Given the description of an element on the screen output the (x, y) to click on. 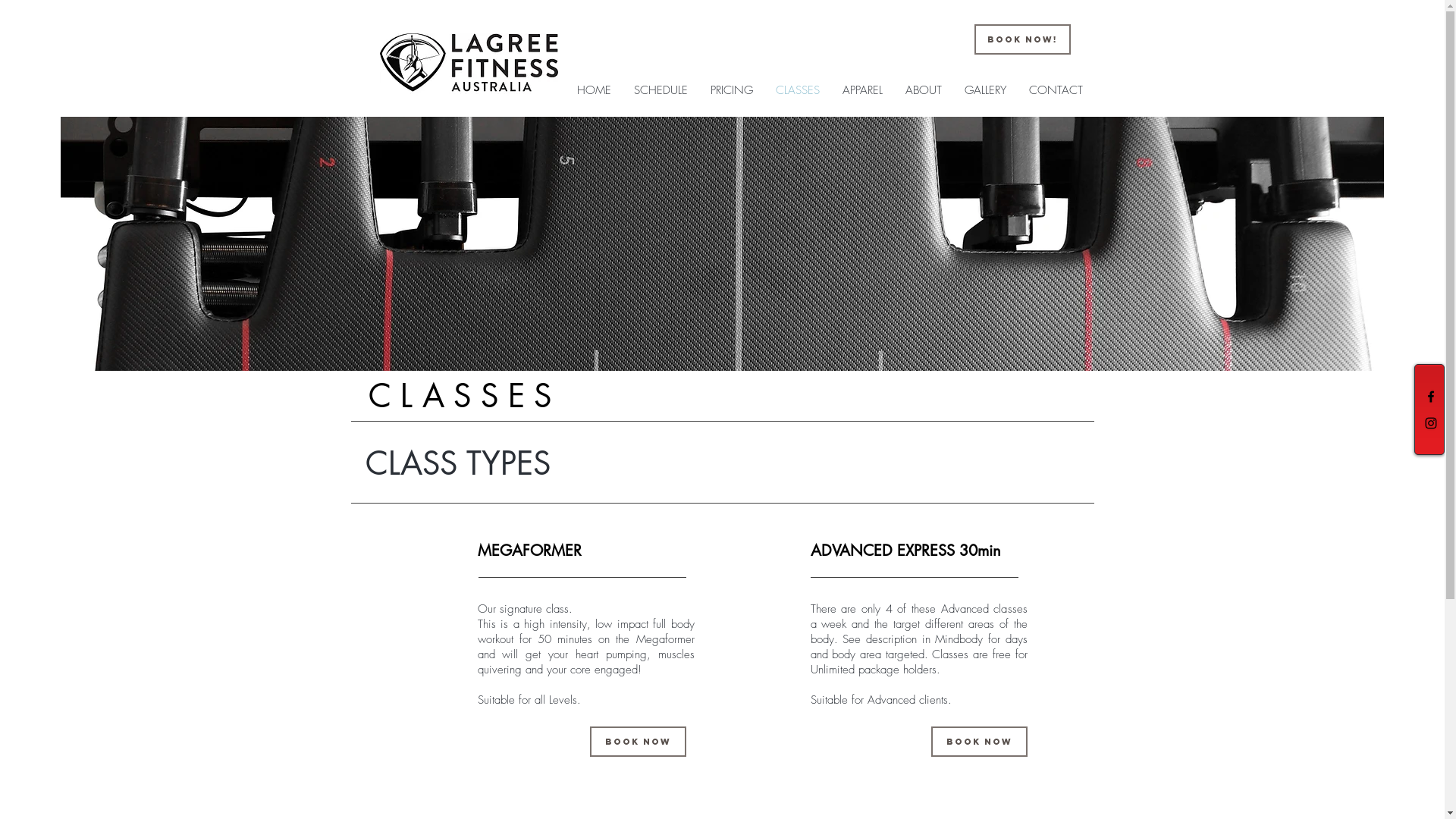
CONTACT Element type: text (1055, 90)
BOOK NOW Element type: text (979, 741)
APPAREL Element type: text (862, 90)
CLASSES Element type: text (797, 90)
HOME Element type: text (593, 90)
SCHEDULE Element type: text (659, 90)
ABOUT Element type: text (922, 90)
GALLERY Element type: text (984, 90)
BOOK NOW Element type: text (637, 741)
BOOK NOW! Element type: text (1021, 39)
PRICING Element type: text (731, 90)
